Given the description of an element on the screen output the (x, y) to click on. 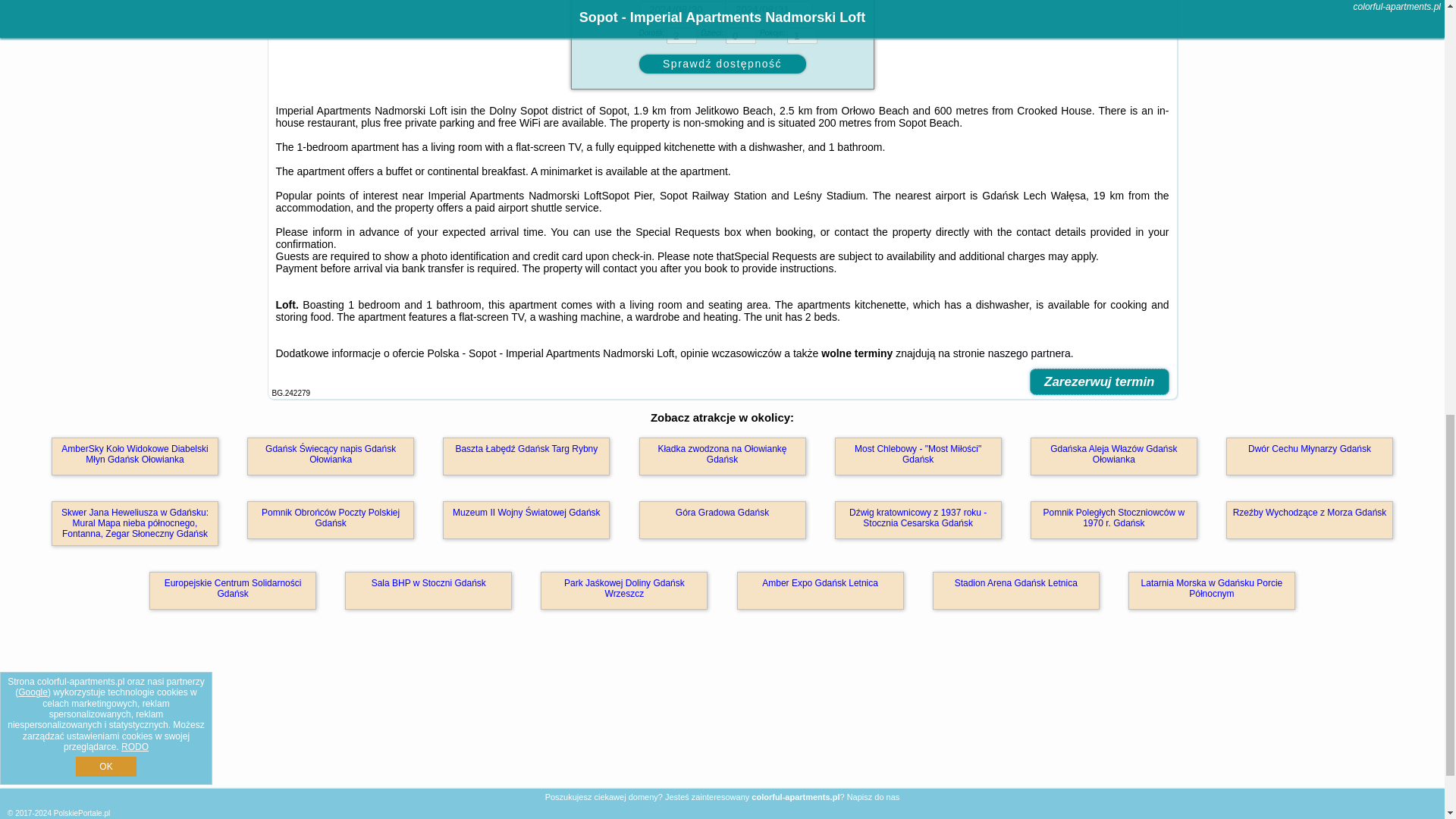
2024-08-31 (767, 9)
naszego partnera (1029, 353)
Zarezerwuj termin (1099, 381)
2024-08-30 (682, 9)
1 (801, 35)
0 (740, 35)
2 (681, 35)
